Given the description of an element on the screen output the (x, y) to click on. 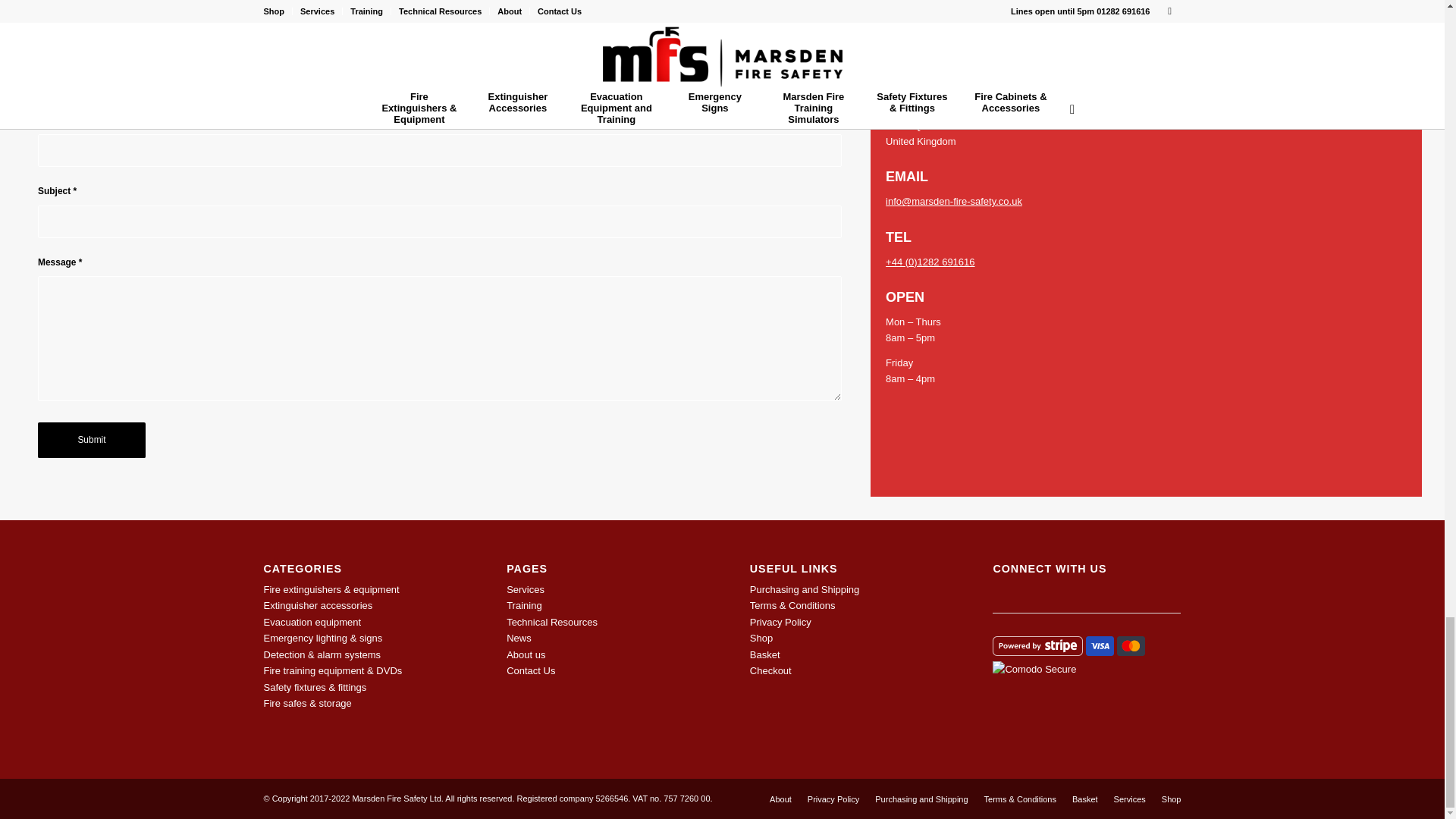
Submit (91, 439)
